Given the description of an element on the screen output the (x, y) to click on. 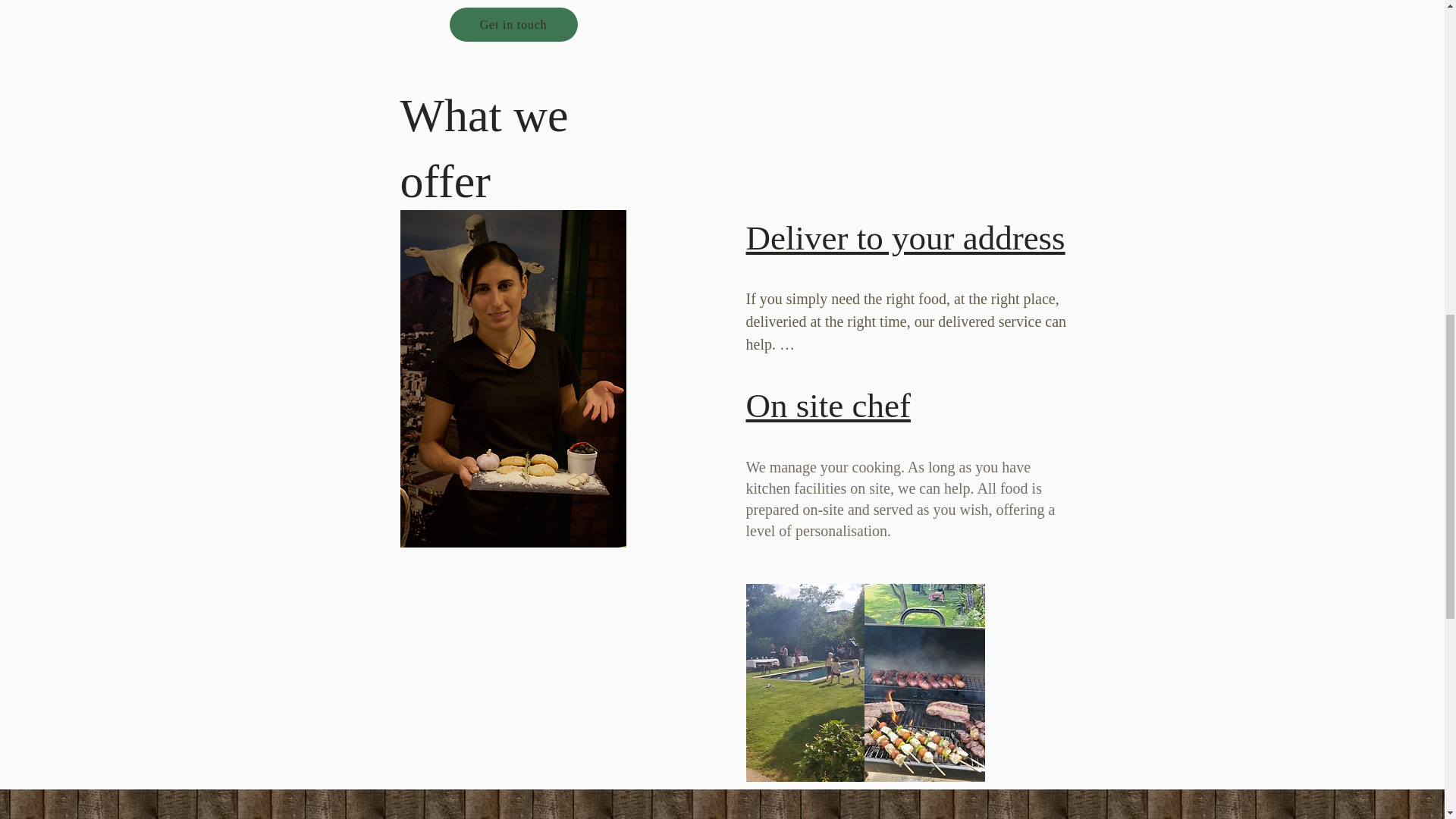
Get in touch (512, 24)
